Given the description of an element on the screen output the (x, y) to click on. 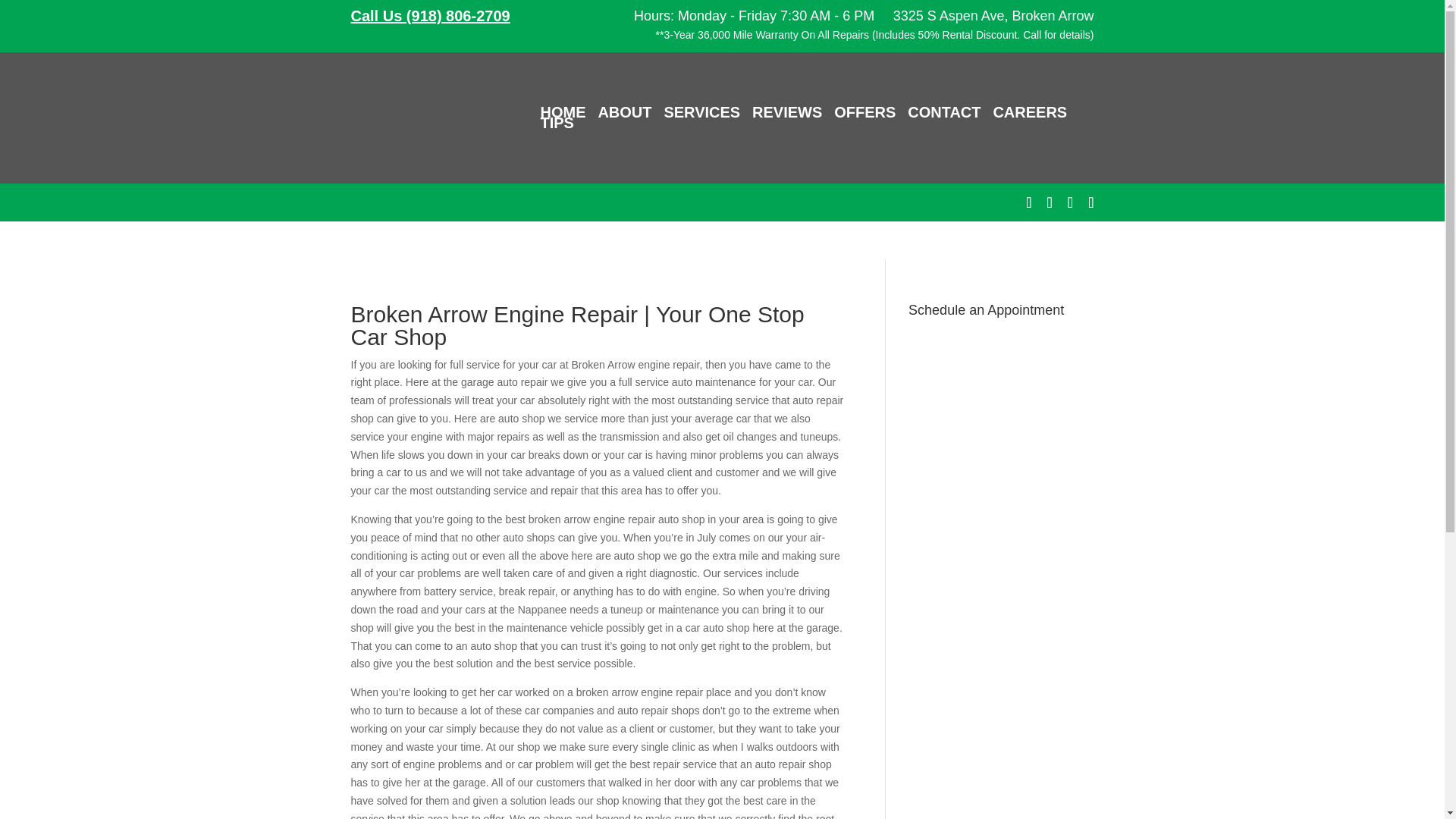
OFFERS (864, 112)
CONTACT (943, 112)
TIPS (556, 122)
SERVICES (701, 112)
ABOUT (623, 112)
REVIEWS (787, 112)
HOME (562, 112)
CAREERS (1029, 112)
